Given the description of an element on the screen output the (x, y) to click on. 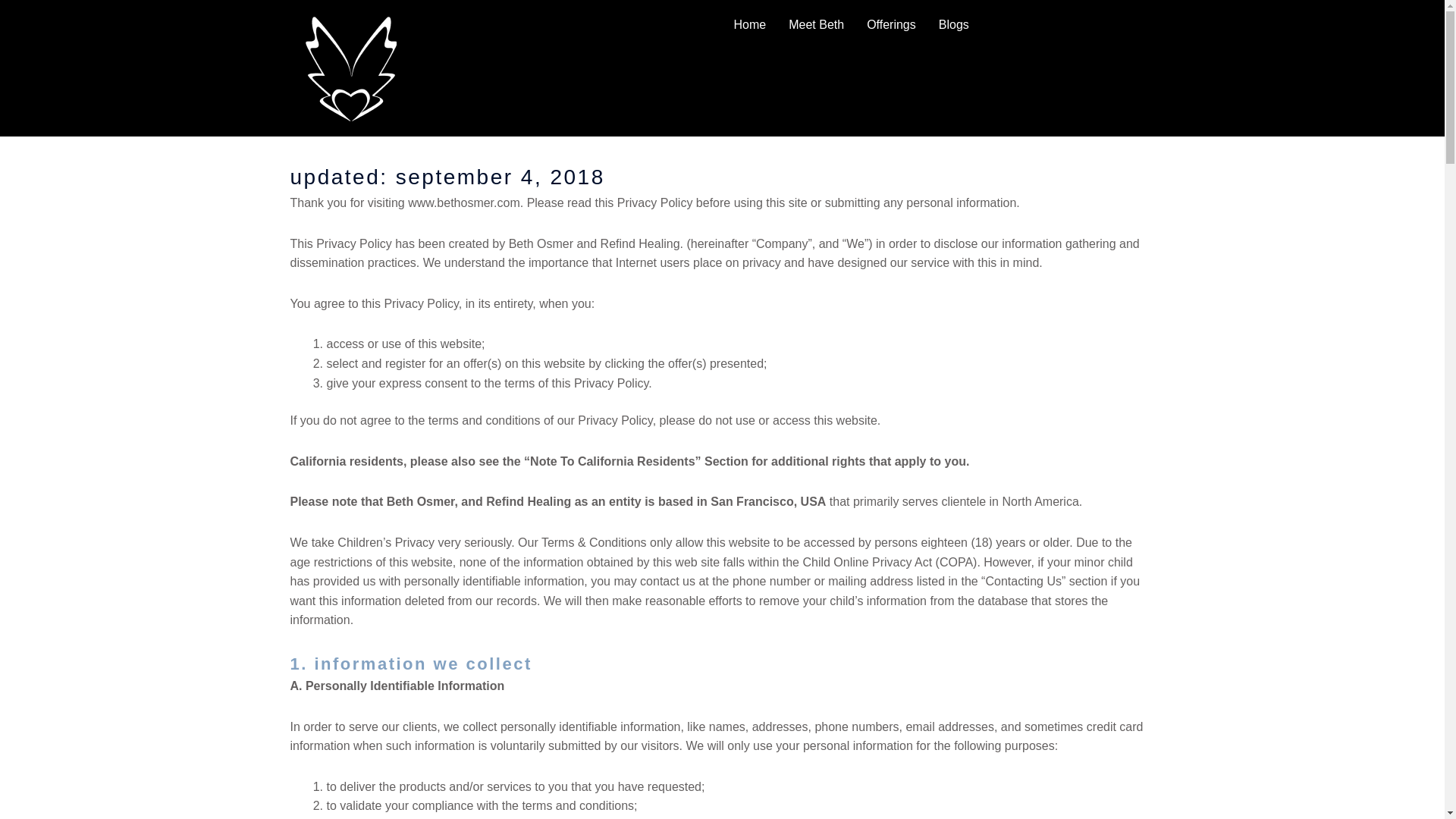
Home (749, 24)
Blogs (953, 24)
Meet Beth (816, 24)
Offerings (891, 24)
